Given the description of an element on the screen output the (x, y) to click on. 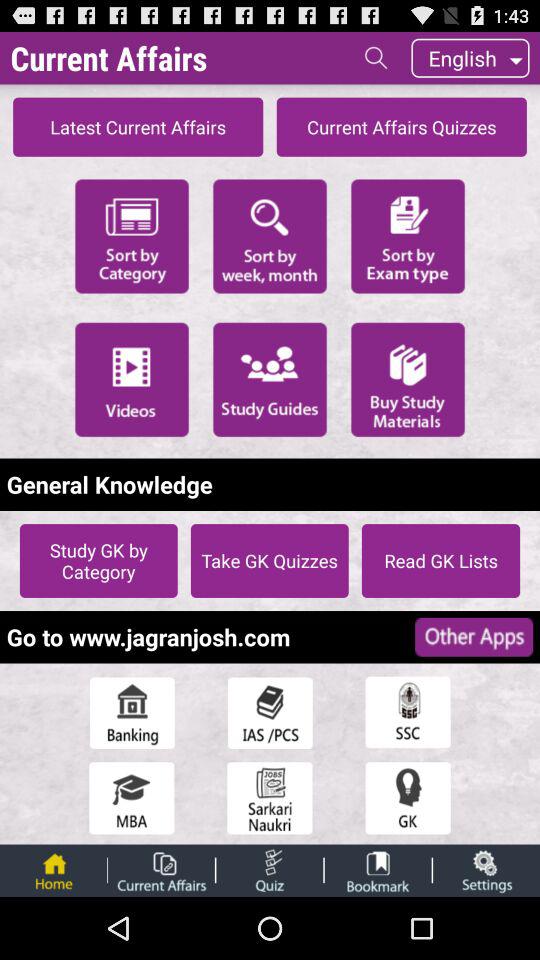
toggle settings (486, 870)
